Given the description of an element on the screen output the (x, y) to click on. 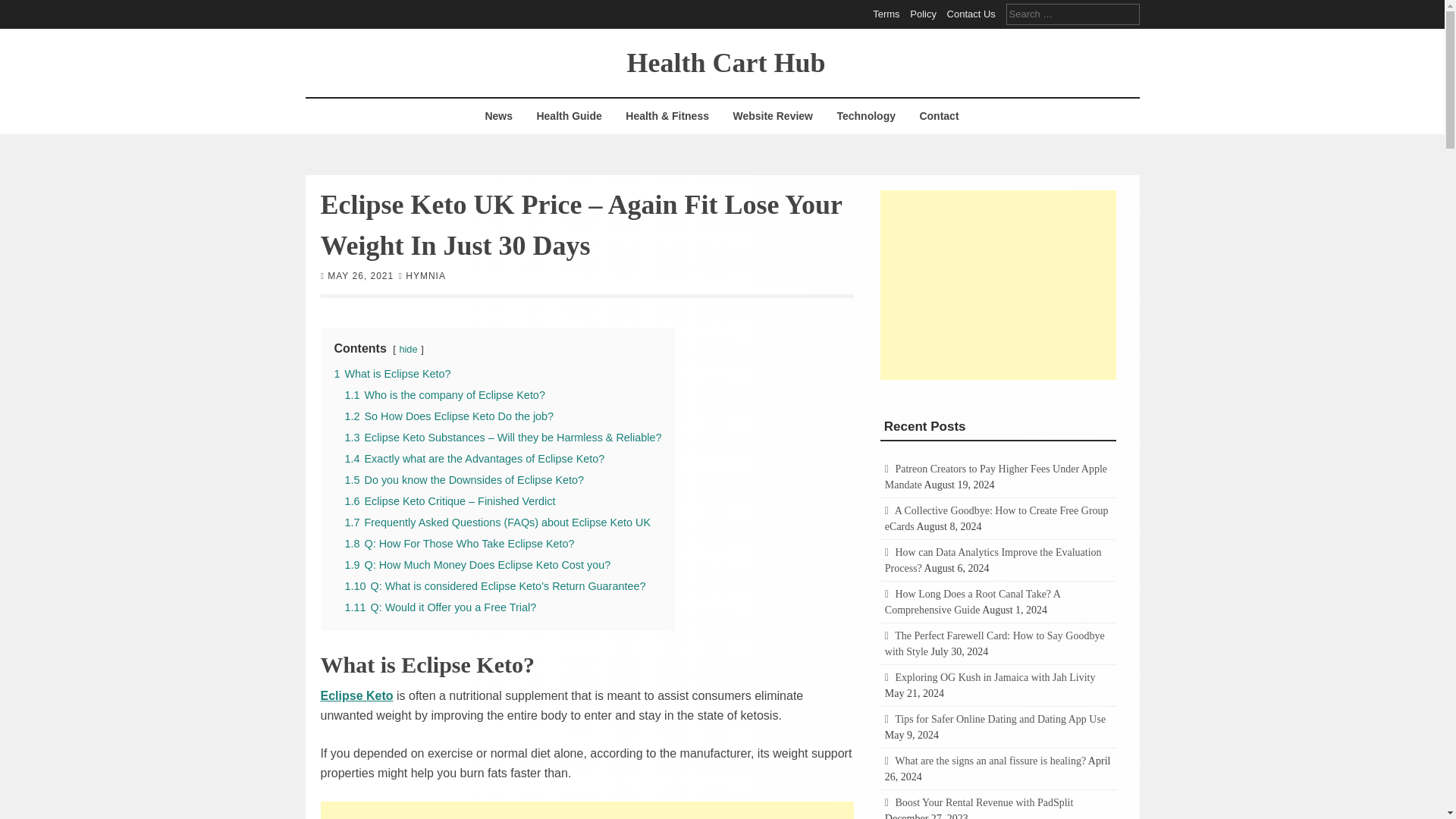
Contact Us (971, 13)
Health Cart Hub (725, 61)
News (498, 116)
Eclipse Keto (356, 694)
1.4 Exactly what are the Advantages of Eclipse Keto? (473, 458)
Advertisement (998, 284)
HYMNIA (425, 275)
1.9 Q: How Much Money Does Eclipse Keto Cost you? (476, 563)
1 What is Eclipse Keto? (391, 372)
1.1 Who is the company of Eclipse Keto? (443, 394)
